Given the description of an element on the screen output the (x, y) to click on. 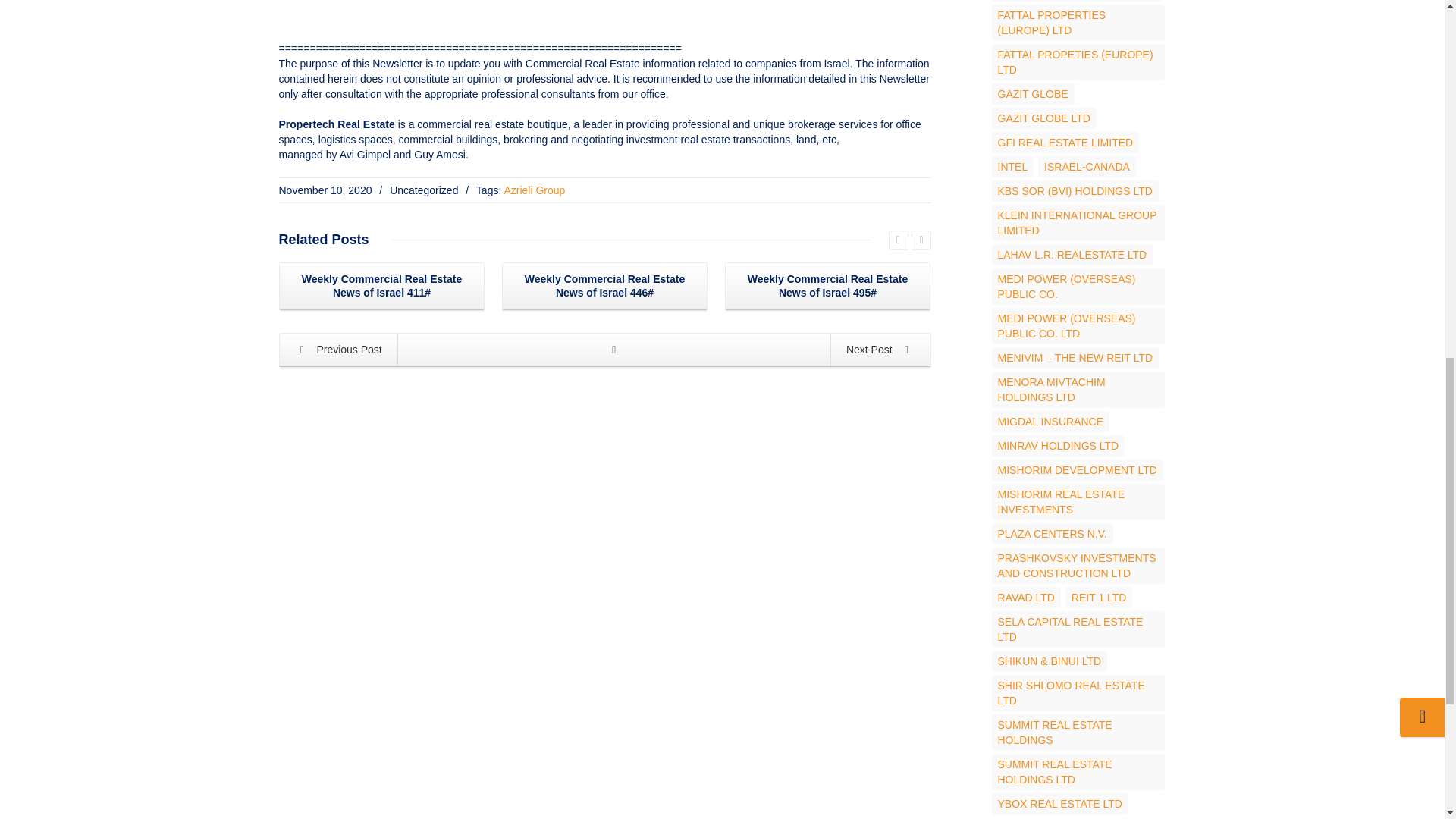
Go to the blog page (614, 349)
Next Post (879, 349)
Previous Post (338, 349)
Azrieli Group (533, 190)
